Given the description of an element on the screen output the (x, y) to click on. 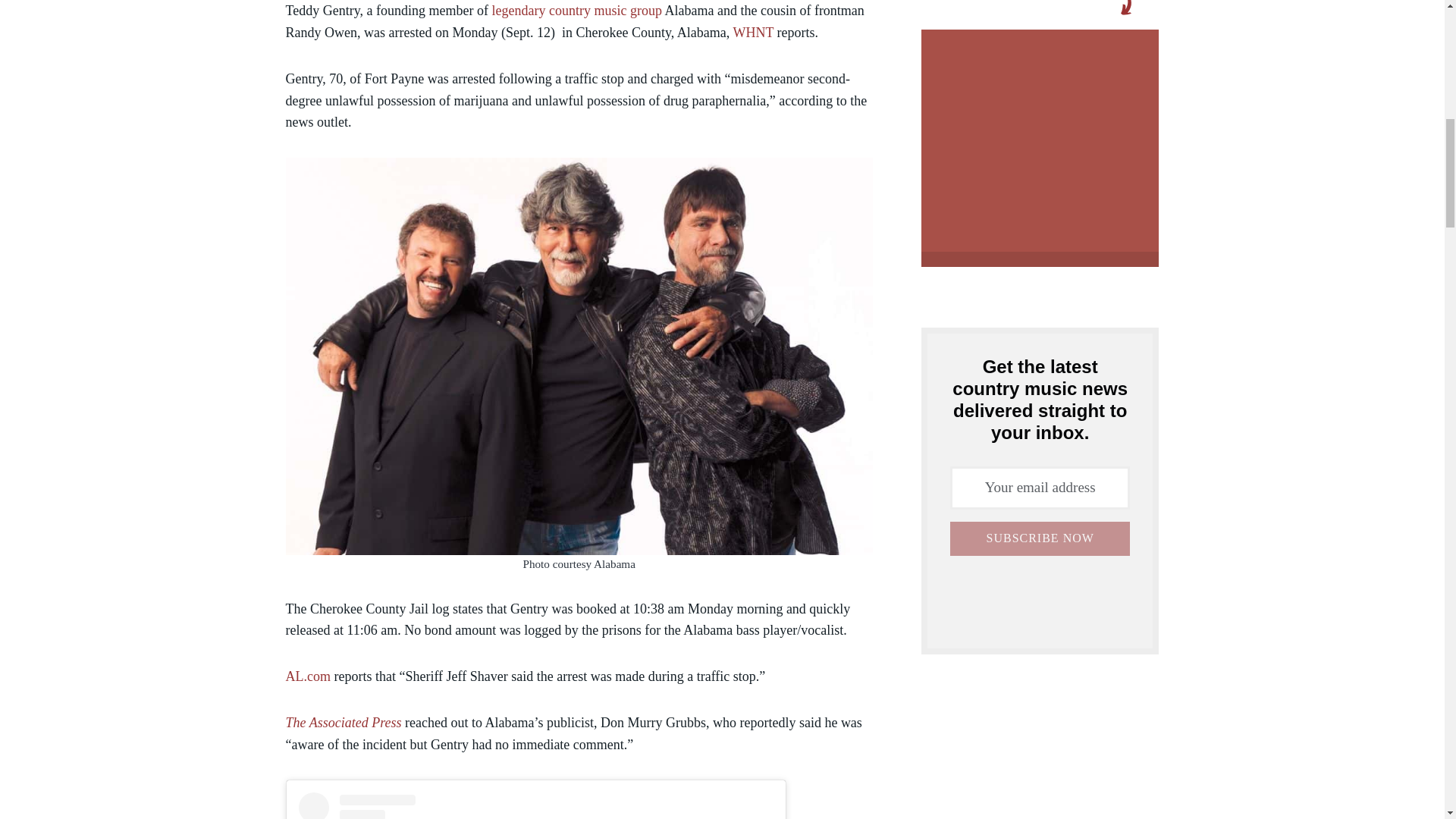
WHNT (752, 32)
AL.com (307, 676)
View this post on Instagram (535, 805)
The Associated Press (343, 722)
legendary country music group (576, 10)
